Given the description of an element on the screen output the (x, y) to click on. 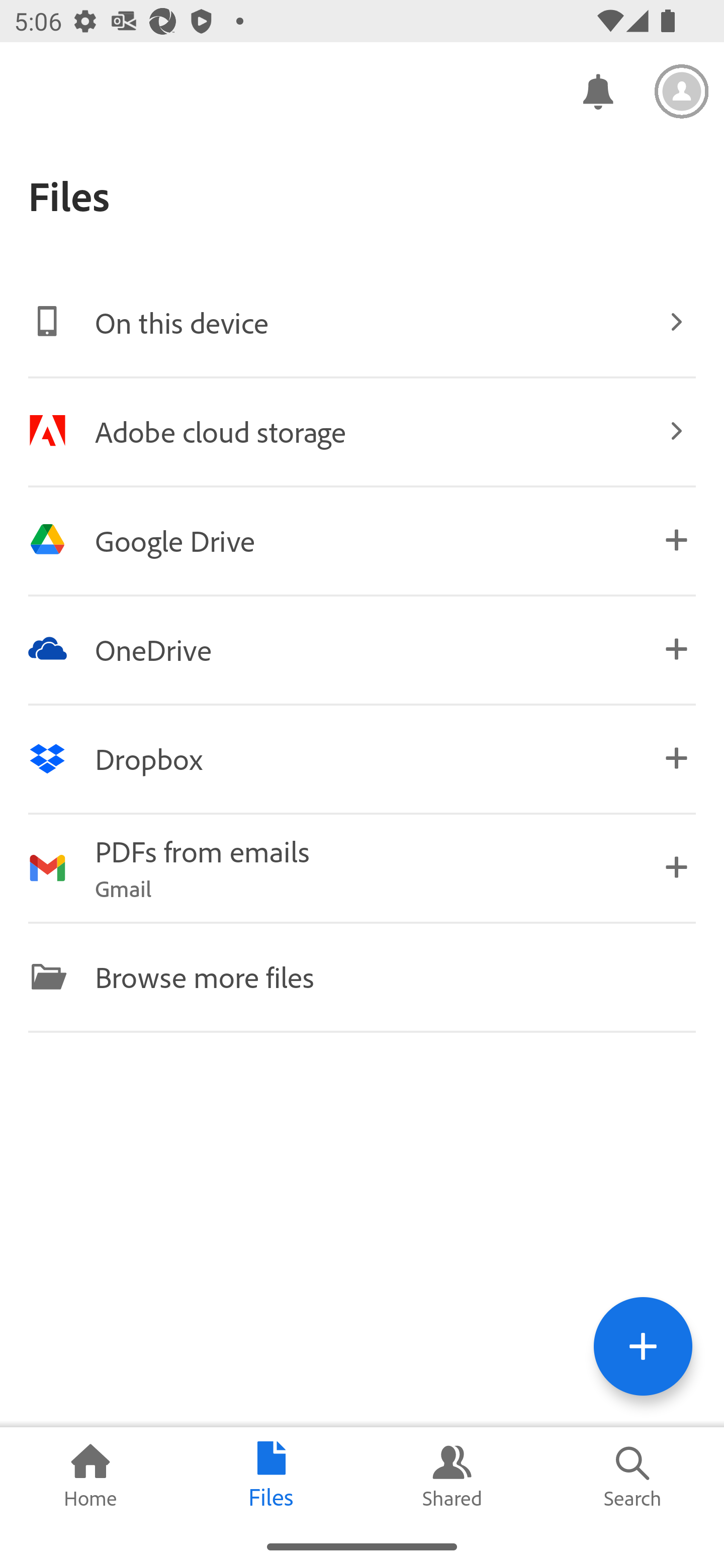
Notifications (597, 90)
Settings (681, 91)
Image On this device (362, 322)
Image Adobe cloud storage (362, 431)
Image Google Drive (362, 540)
Image OneDrive (362, 649)
Image Dropbox (362, 758)
Image PDFs from emails Gmail (362, 866)
Image Browse more files (362, 975)
Tools (642, 1345)
Home (90, 1475)
Files (271, 1475)
Shared (452, 1475)
Search (633, 1475)
